Given the description of an element on the screen output the (x, y) to click on. 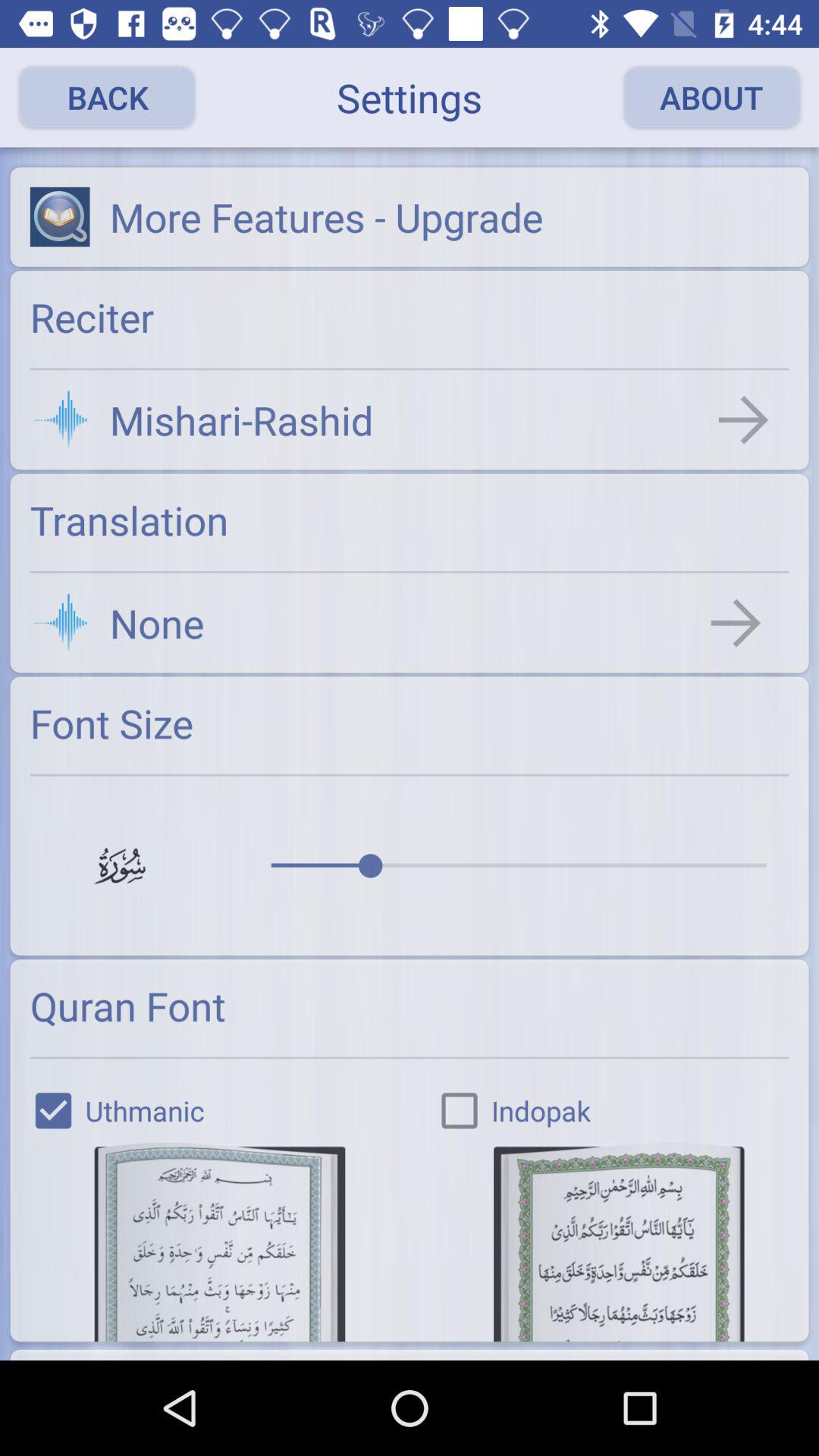
toggle uthmanic font (219, 1241)
